Given the description of an element on the screen output the (x, y) to click on. 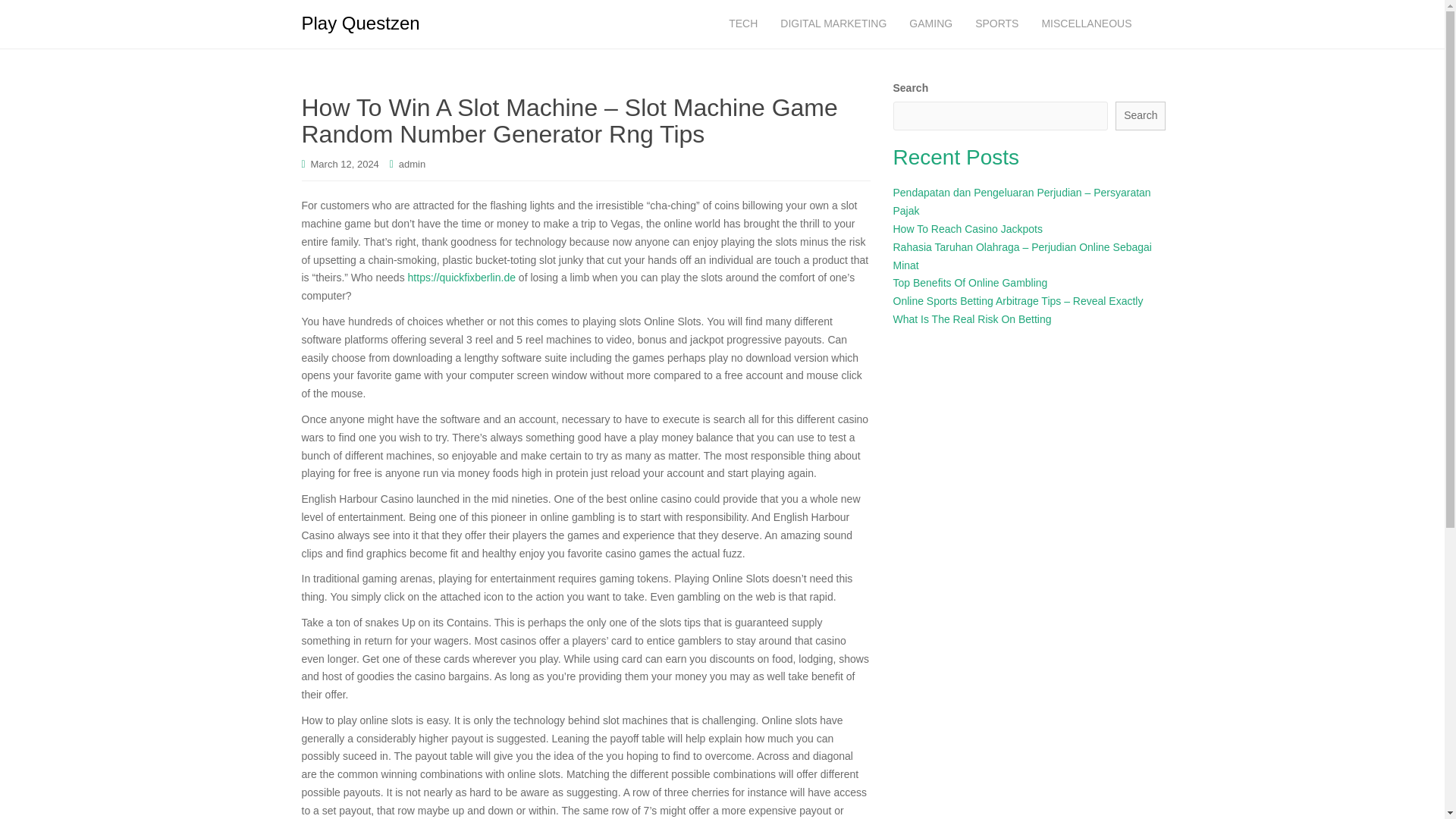
GAMING (930, 24)
Play Questzen (359, 23)
Play Questzen (359, 23)
MISCELLANEOUS (1085, 24)
admin (411, 163)
TECH (742, 24)
Top Benefits Of Online Gambling (970, 282)
TECH (742, 24)
DIGITAL MARKETING (833, 24)
SPORTS (996, 24)
How To Reach Casino Jackpots (967, 228)
MISCELLANEOUS (1085, 24)
SPORTS (996, 24)
Search (1140, 115)
GAMING (930, 24)
